Given the description of an element on the screen output the (x, y) to click on. 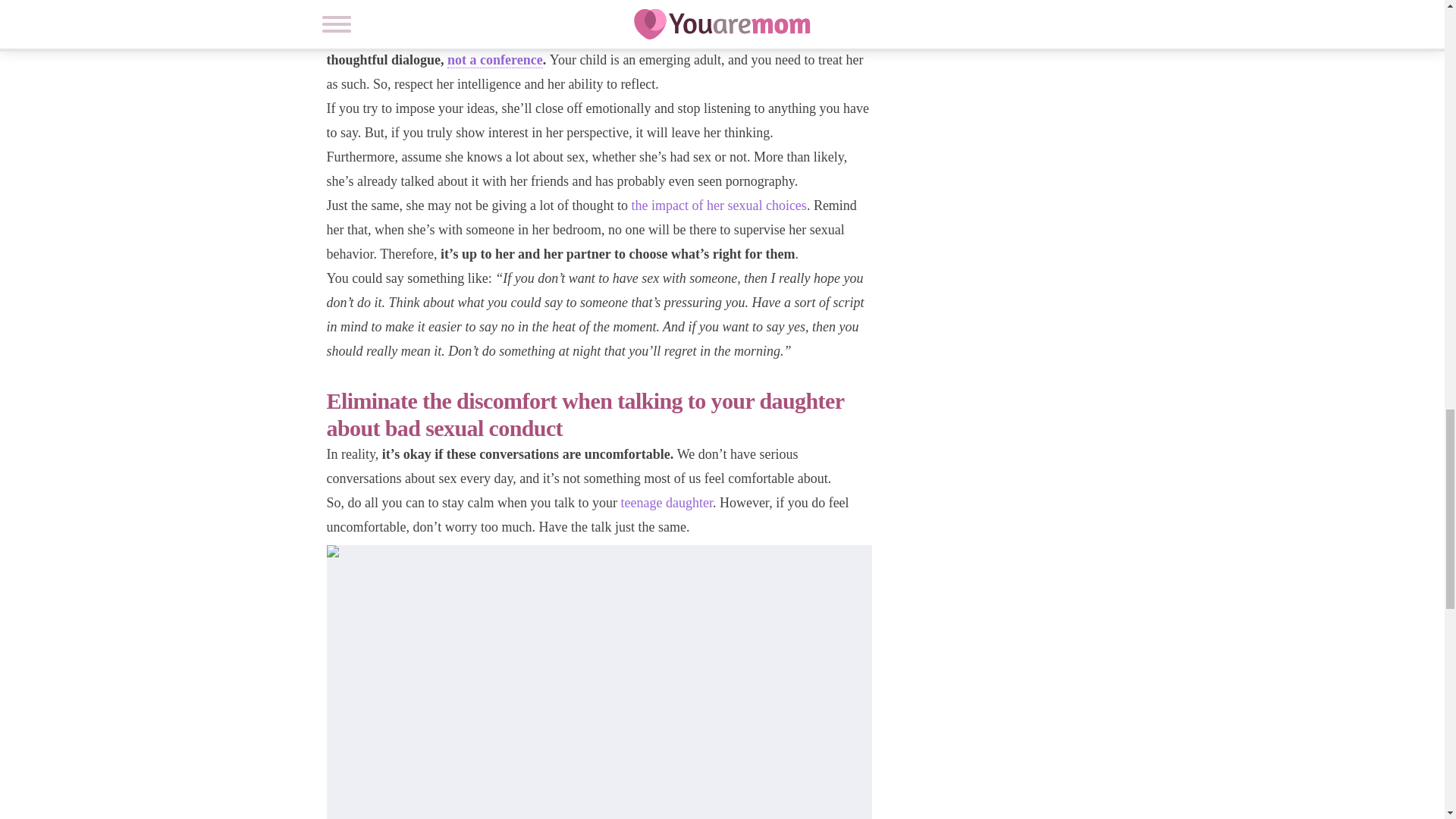
teenage daughter (665, 502)
not a conference (494, 59)
the impact of her sexual choices (718, 205)
